Given the description of an element on the screen output the (x, y) to click on. 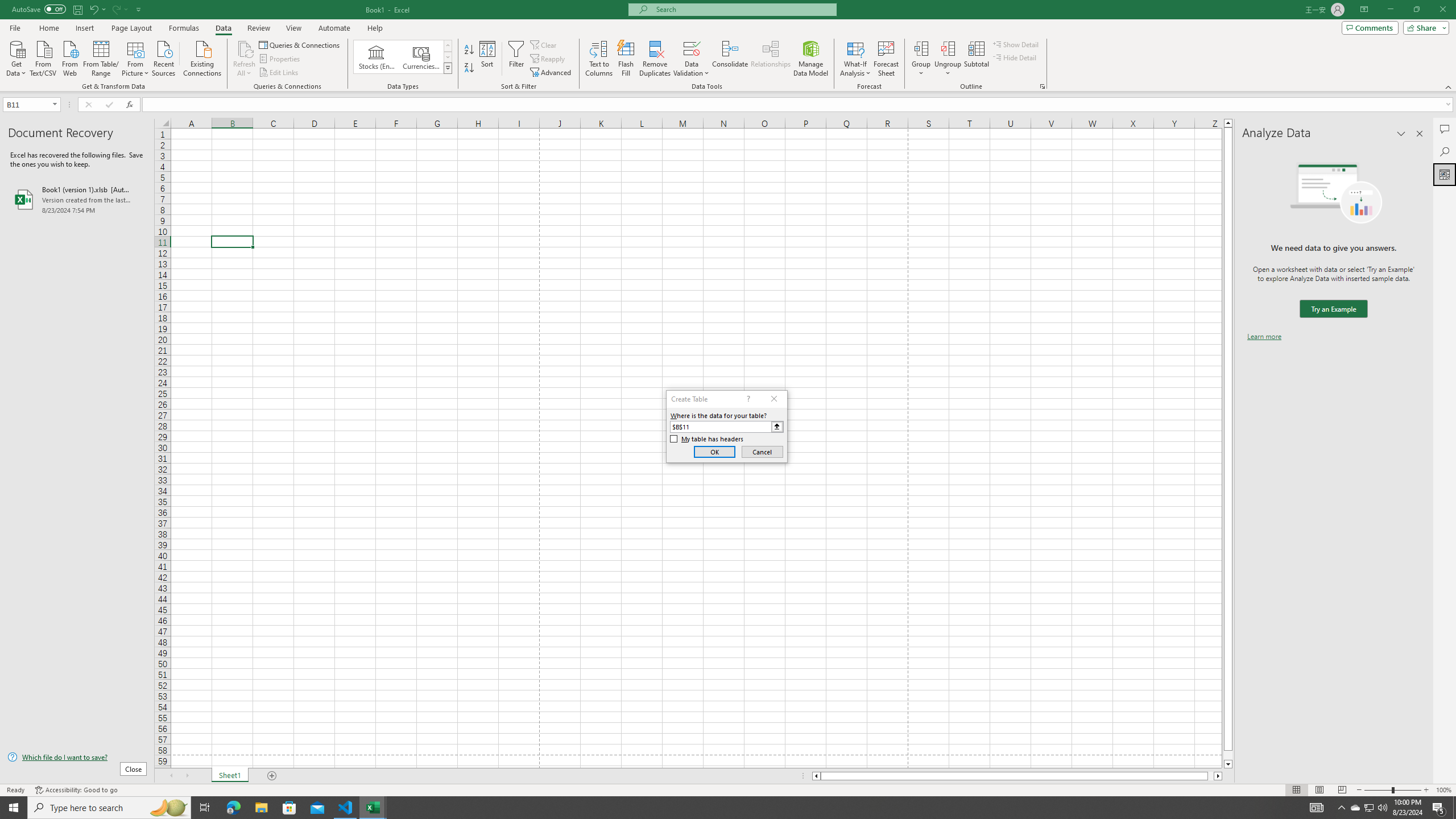
Consolidate... (729, 58)
